Given the description of an element on the screen output the (x, y) to click on. 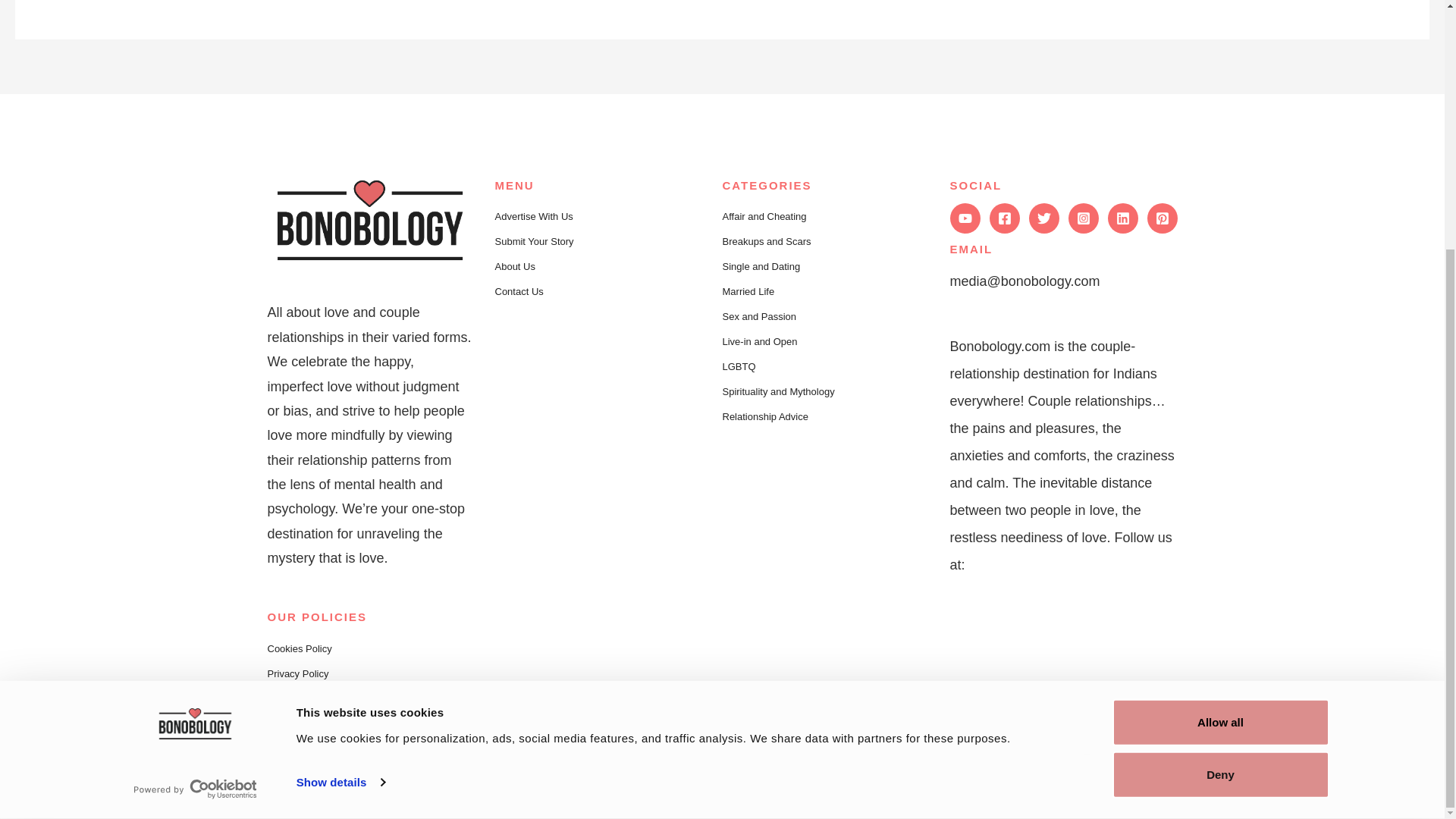
Show details (340, 432)
